Given the description of an element on the screen output the (x, y) to click on. 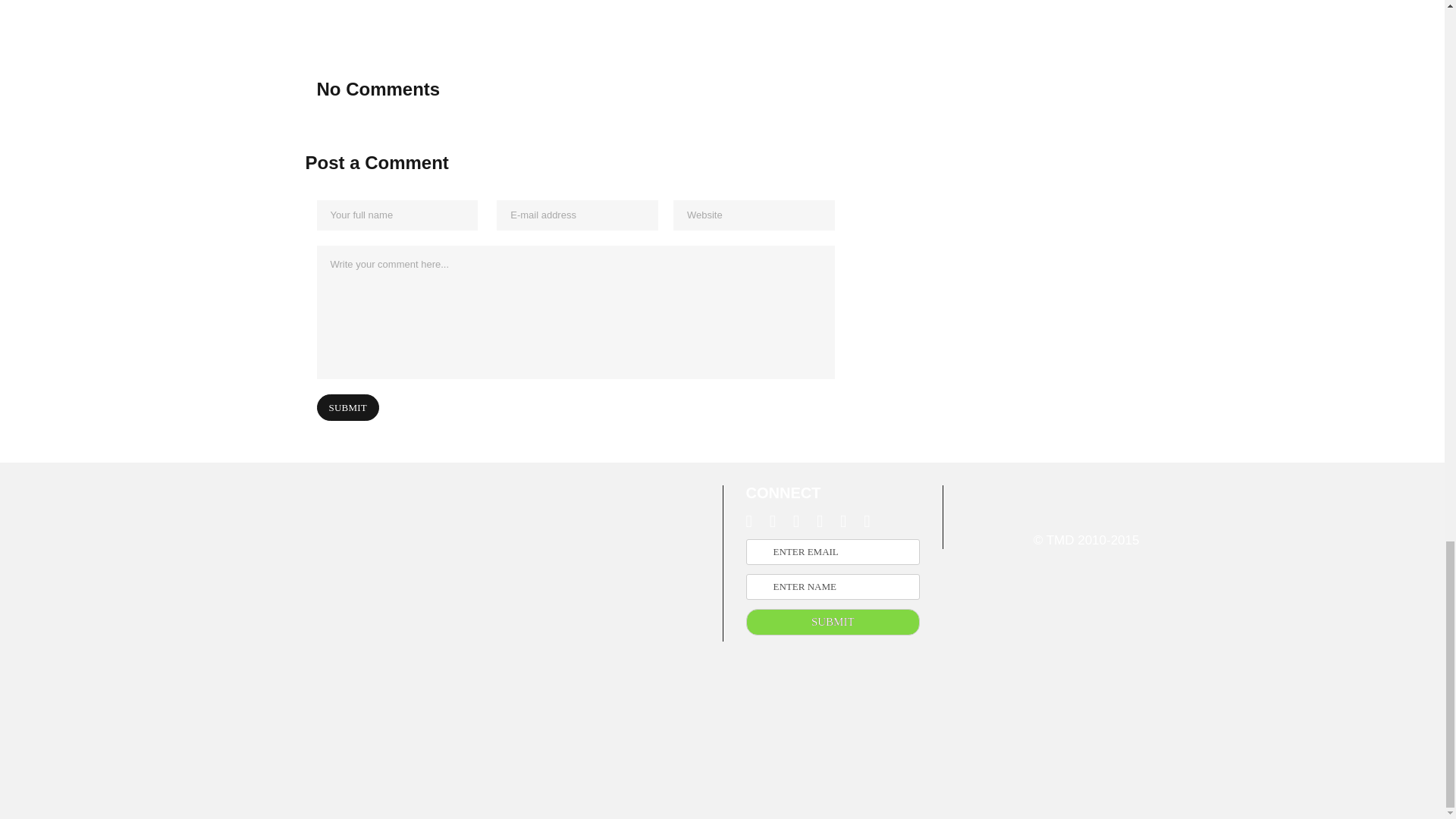
Submit (347, 406)
ENTER EMAIL (832, 551)
ENTER NAME (832, 586)
SUBMIT (832, 622)
